Given the description of an element on the screen output the (x, y) to click on. 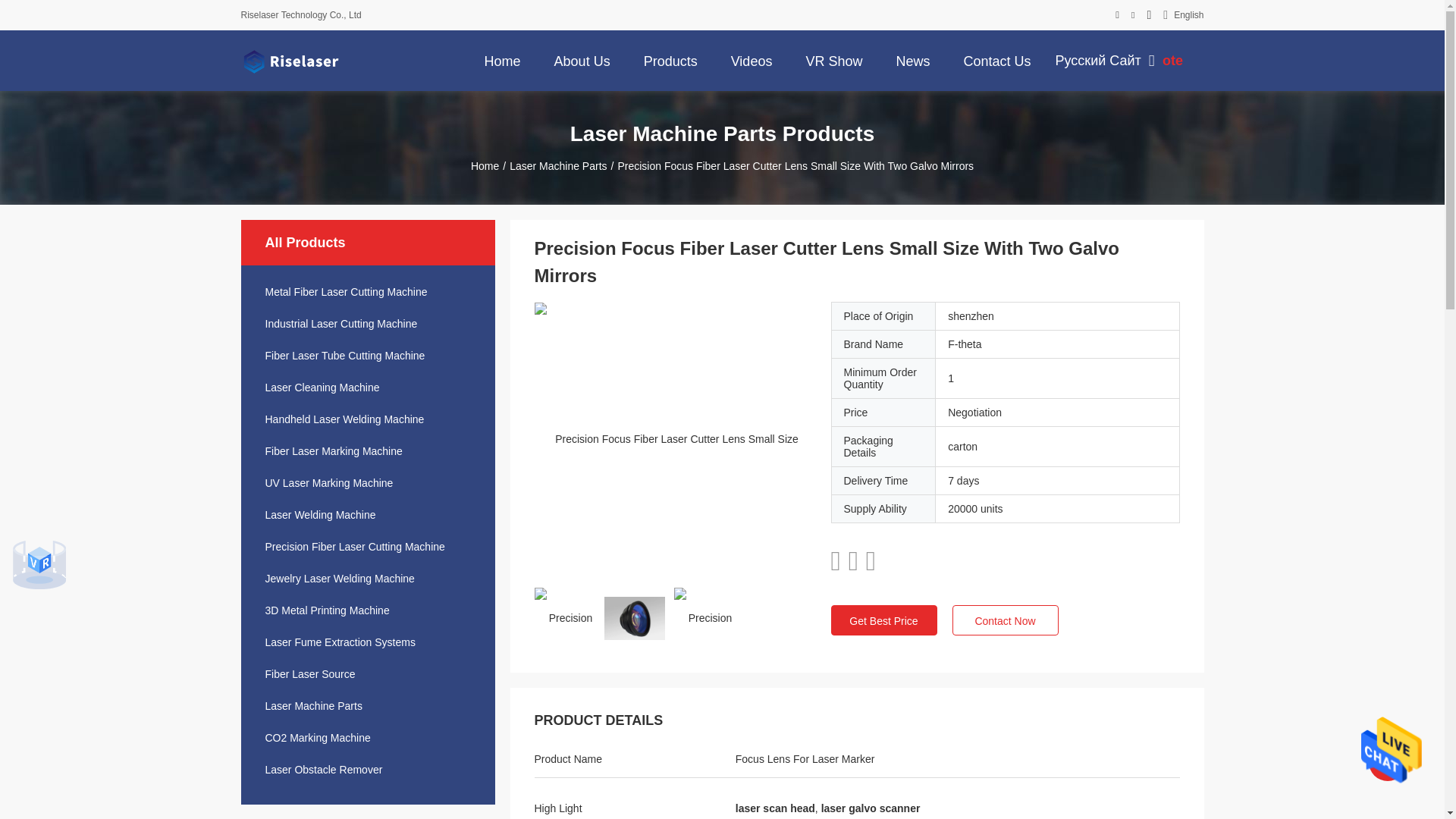
About Us (582, 60)
Products (670, 60)
Home (502, 60)
